Given the description of an element on the screen output the (x, y) to click on. 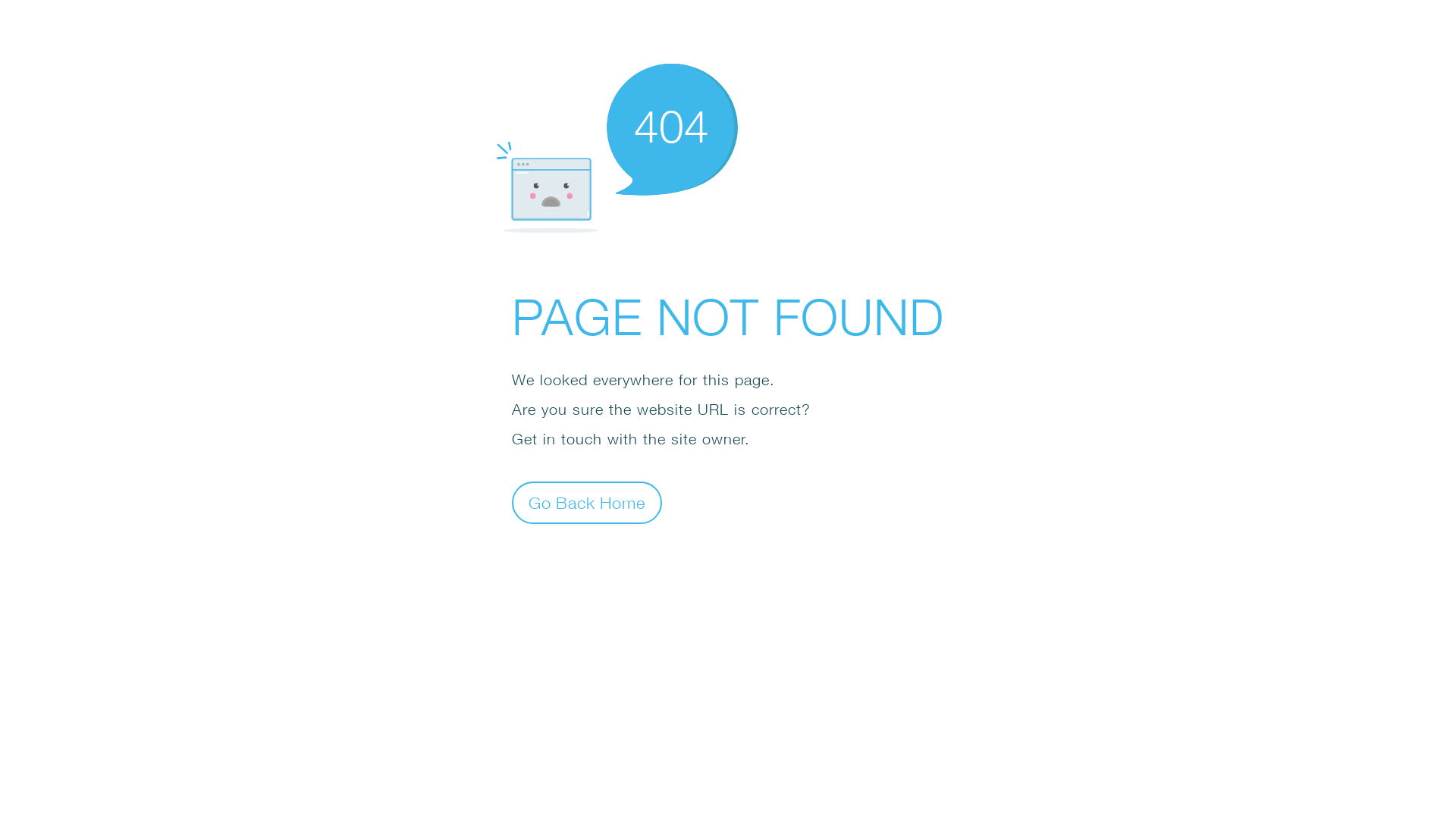
Go Back Home Element type: text (586, 502)
